Given the description of an element on the screen output the (x, y) to click on. 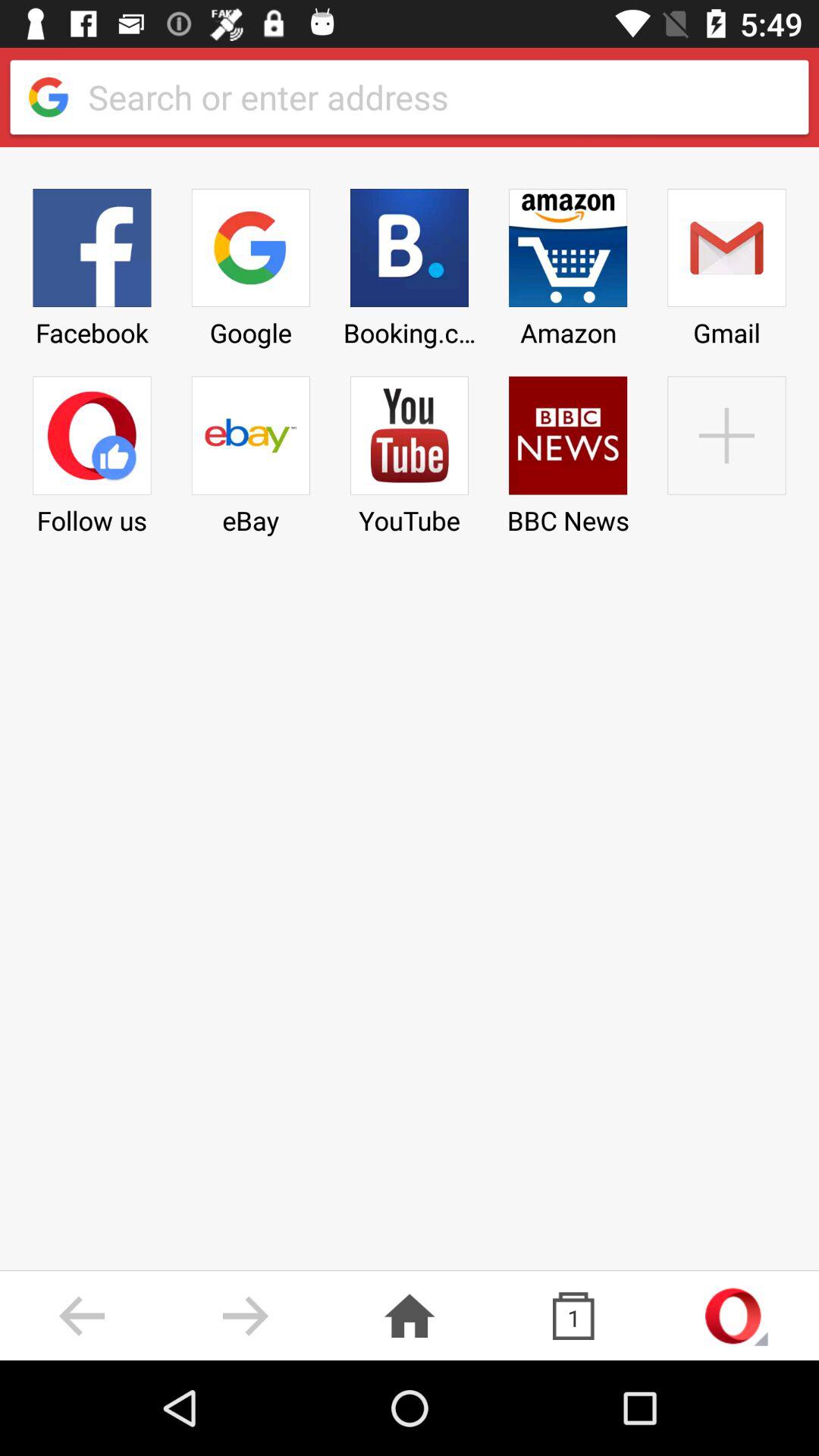
jump to the ebay icon (250, 450)
